Given the description of an element on the screen output the (x, y) to click on. 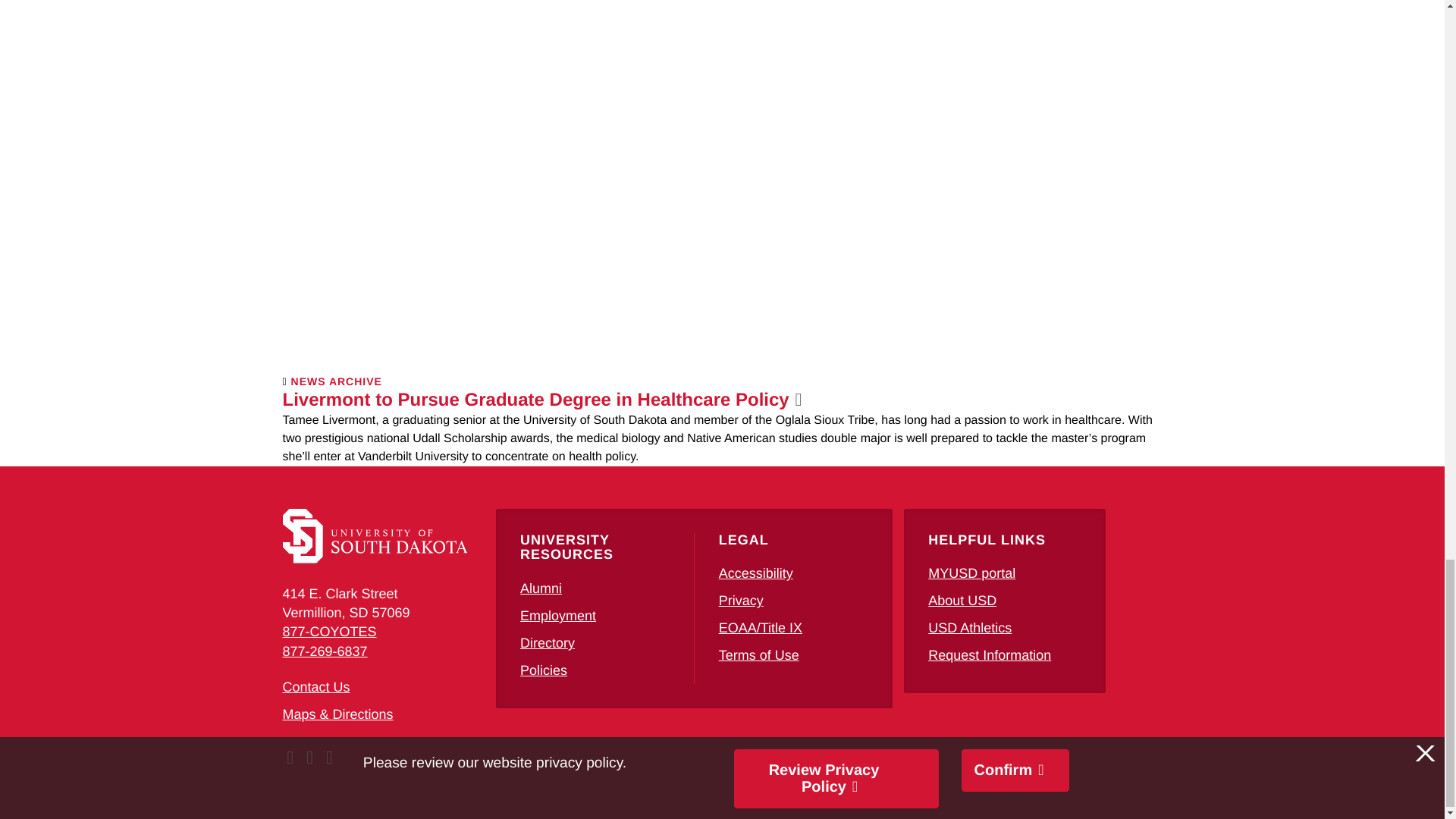
USD Terms of Use (759, 654)
About USD (961, 600)
MYUSD portal (971, 572)
USD Athletics site (969, 627)
Privacy (740, 600)
Faculty and Staff Directory (547, 642)
Employment (557, 615)
Request Information (989, 654)
USD Alumni (540, 588)
Accessibility (756, 572)
